Given the description of an element on the screen output the (x, y) to click on. 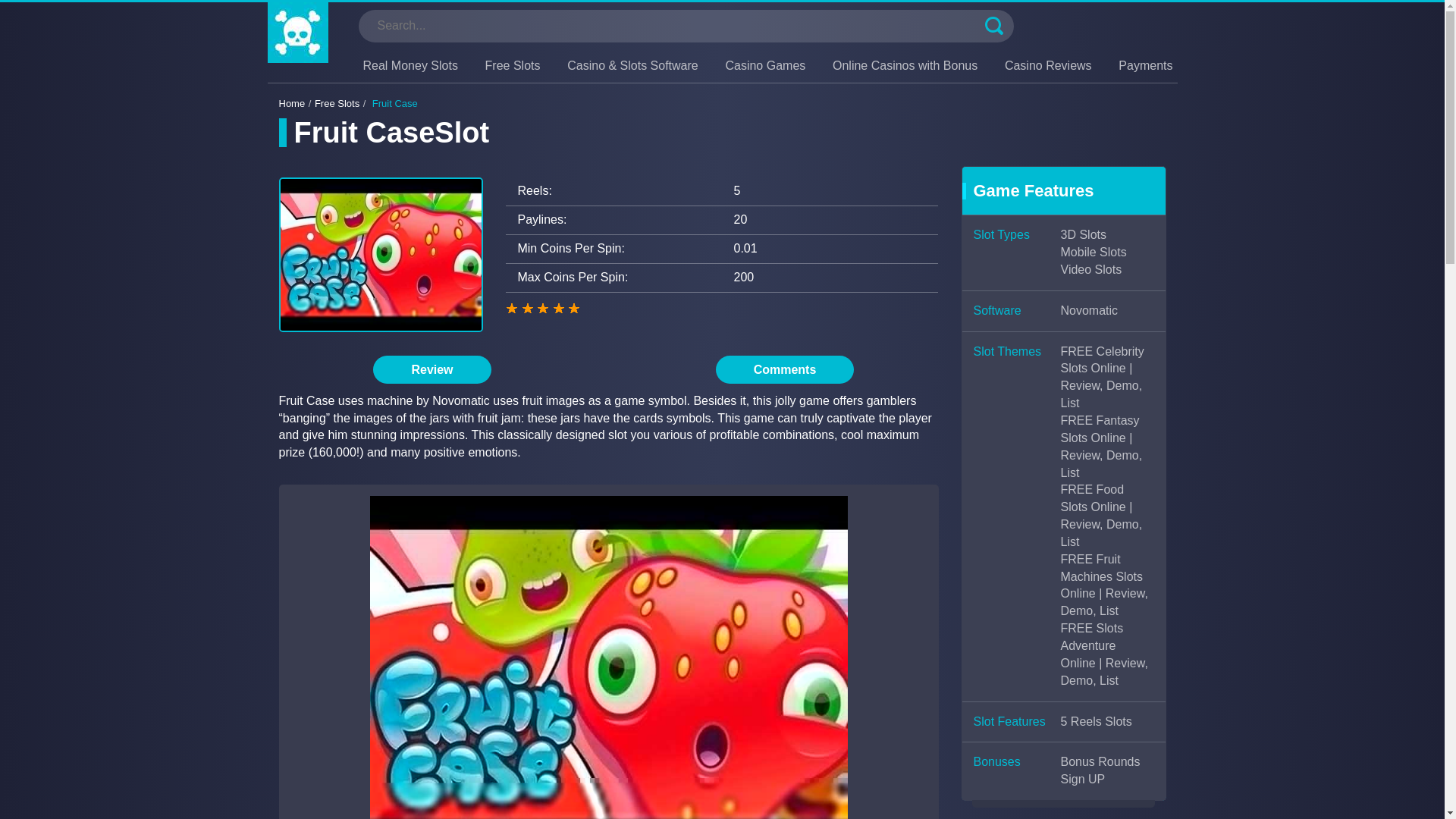
Casino Reviews (1048, 65)
Online Casinos with Bonus (904, 65)
Free Slots (512, 65)
Real Money Slots (409, 65)
Casino Games (765, 65)
Payments (1145, 65)
